Given the description of an element on the screen output the (x, y) to click on. 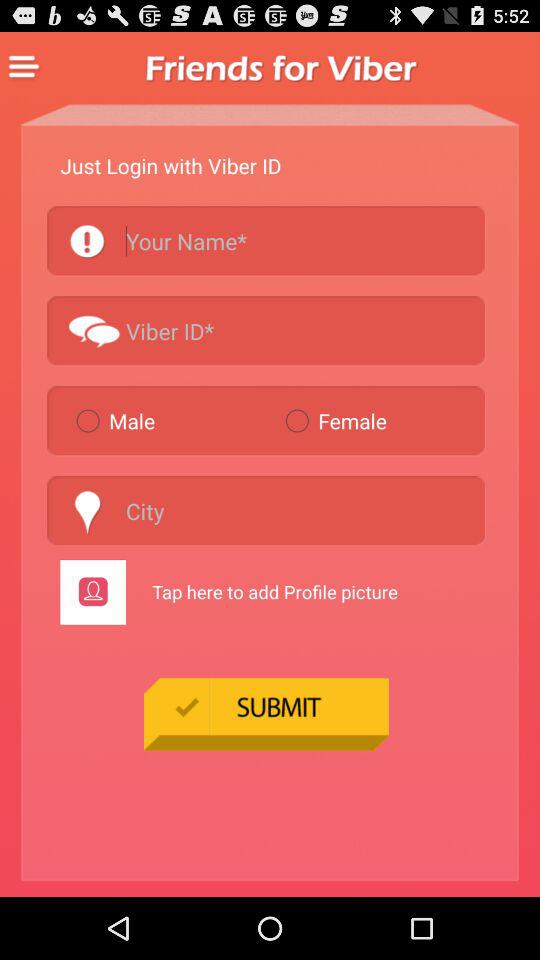
flip until male (171, 420)
